Given the description of an element on the screen output the (x, y) to click on. 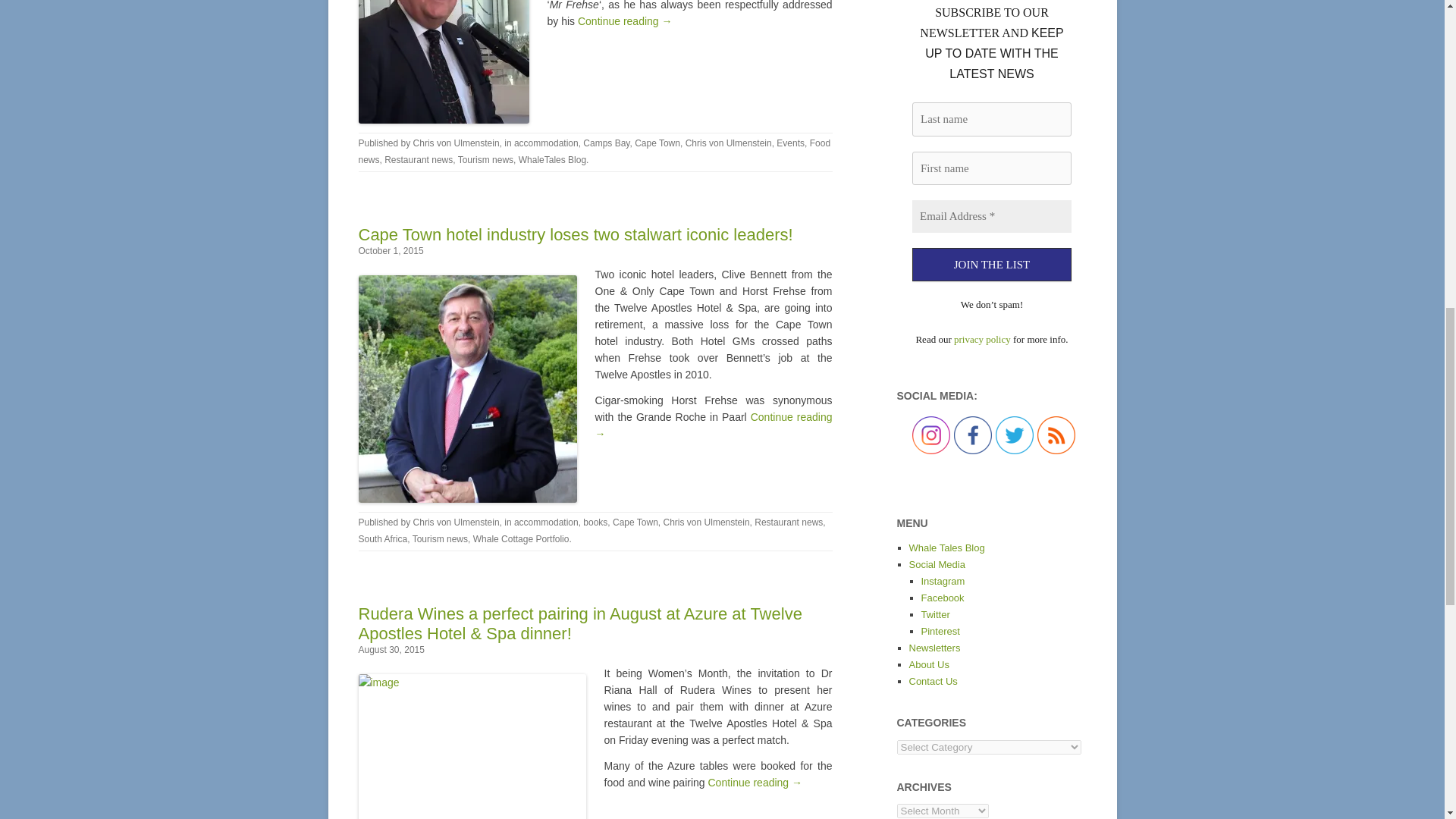
Cape Town (656, 143)
accommodation (545, 143)
JOIN THE LIST (990, 264)
Chris von Ulmenstein (728, 143)
Chris von Ulmenstein (456, 143)
Camps Bay (605, 143)
View all posts by Chris von Ulmenstein (456, 143)
View all posts by Chris von Ulmenstein (456, 521)
2:47 pm (390, 250)
